Given the description of an element on the screen output the (x, y) to click on. 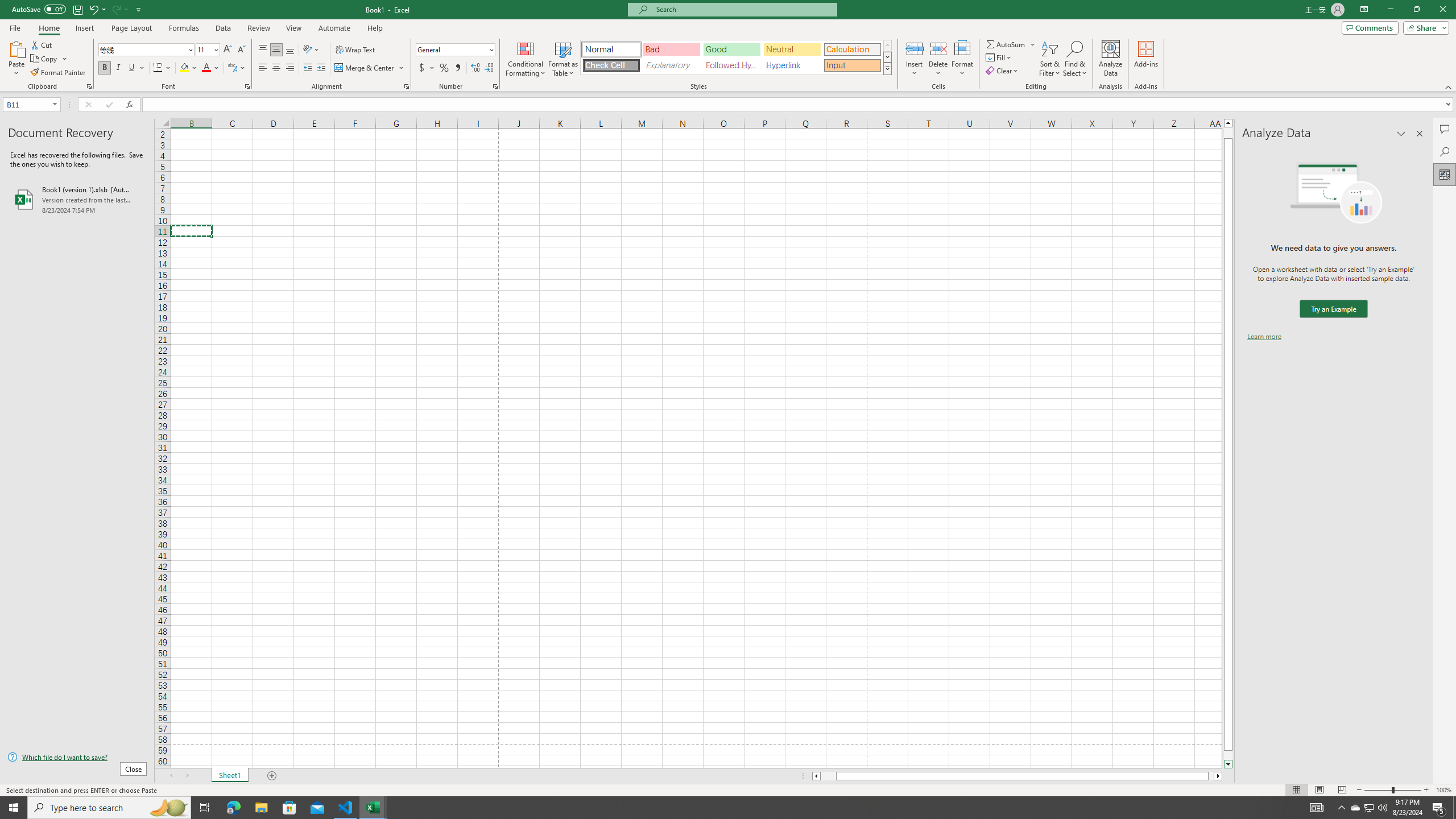
Format (962, 58)
Delete (938, 58)
Cut (42, 44)
Sum (1006, 44)
Conditional Formatting (525, 58)
Good (731, 49)
Copy (45, 58)
Font (142, 49)
